Given the description of an element on the screen output the (x, y) to click on. 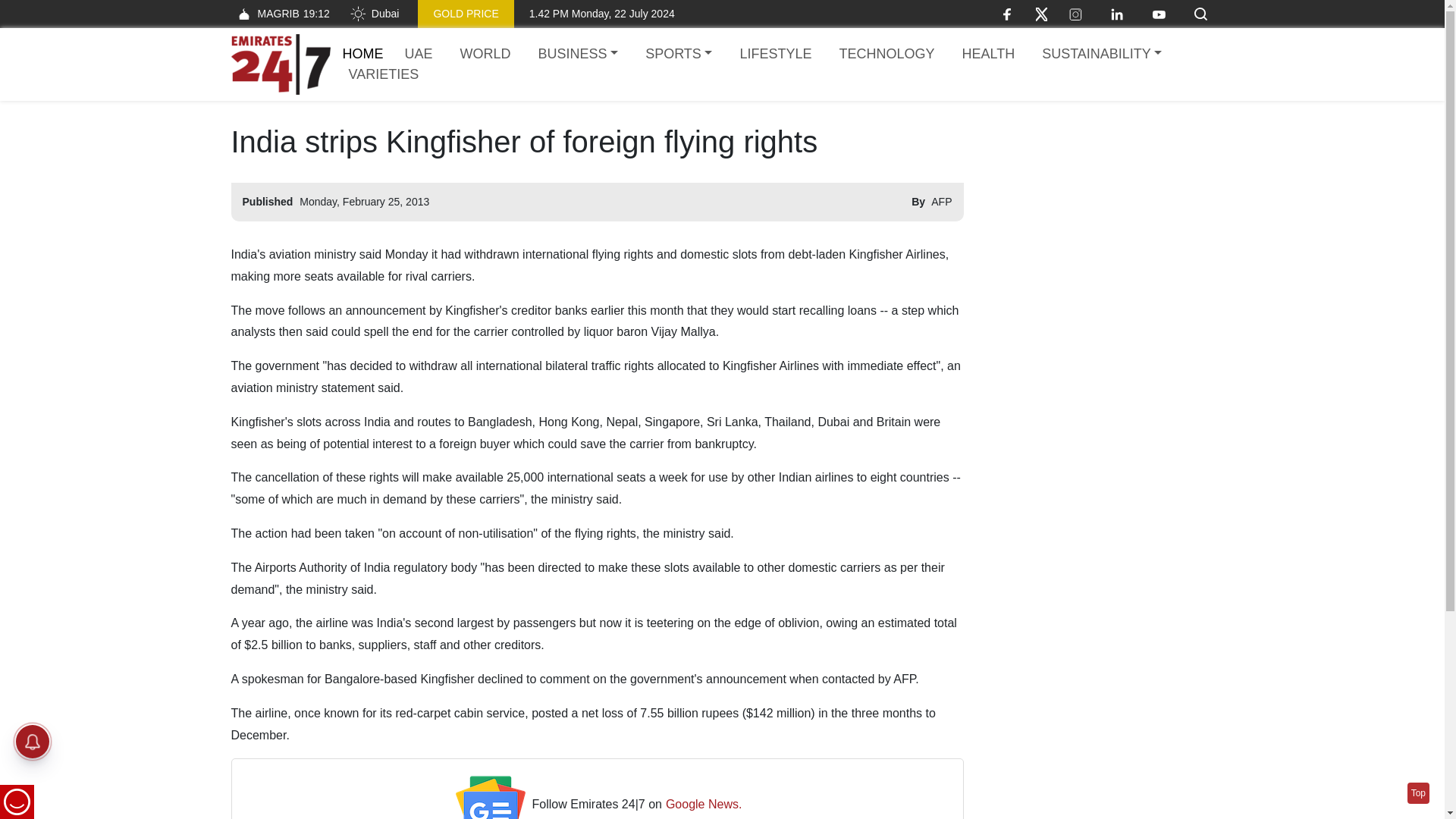
Dubai (374, 13)
GOLD PRICE (465, 13)
Go to top (1418, 792)
BUSINESS (578, 54)
HEALTH (987, 54)
LIFESTYLE (774, 54)
SUSTAINABILITY (1101, 54)
HOME (363, 53)
UAE (418, 54)
WORLD (485, 54)
SPORTS (678, 54)
VARIETIES (383, 74)
3rd party ad content (1097, 217)
Home (280, 64)
Google News. (703, 804)
